Given the description of an element on the screen output the (x, y) to click on. 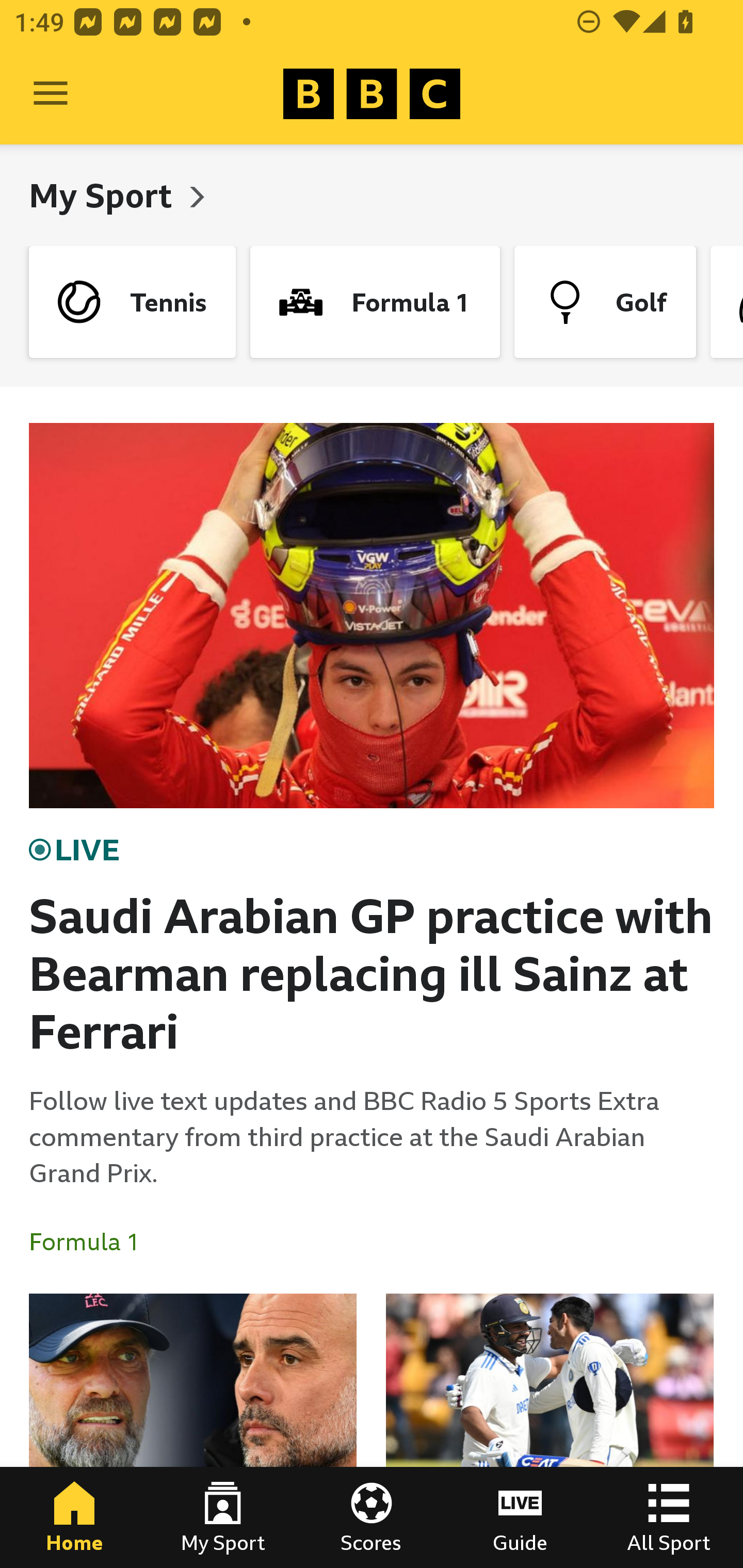
Open Menu (50, 93)
My Sport (104, 195)
Formula 1 In the section Formula 1 (91, 1241)
India build big lead despite Stokes' return wicket (549, 1430)
My Sport (222, 1517)
Scores (371, 1517)
Guide (519, 1517)
All Sport (668, 1517)
